Given the description of an element on the screen output the (x, y) to click on. 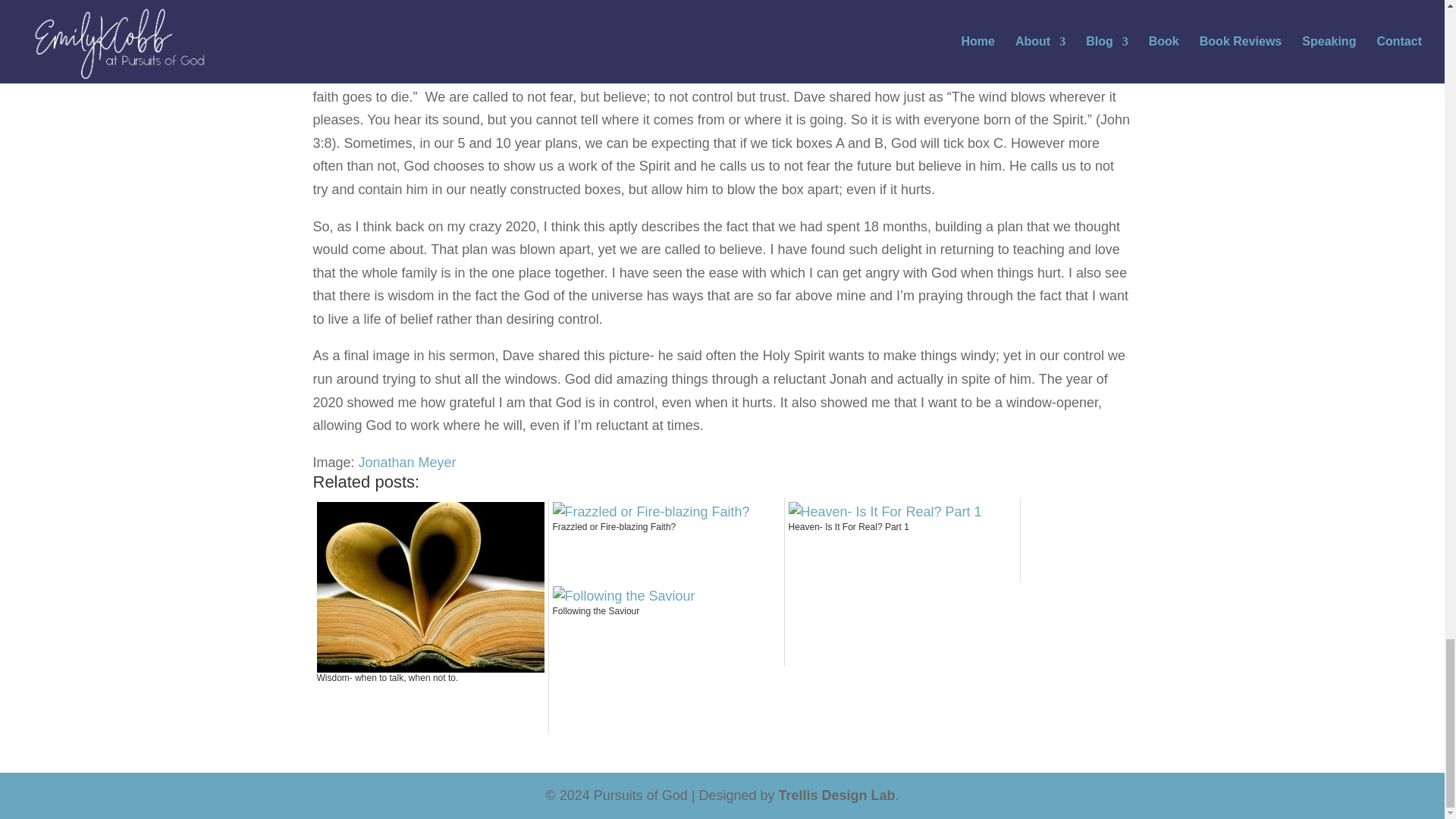
Wisdom- when to talk, when not to. (430, 700)
Jonathan Meyer (407, 462)
